Given the description of an element on the screen output the (x, y) to click on. 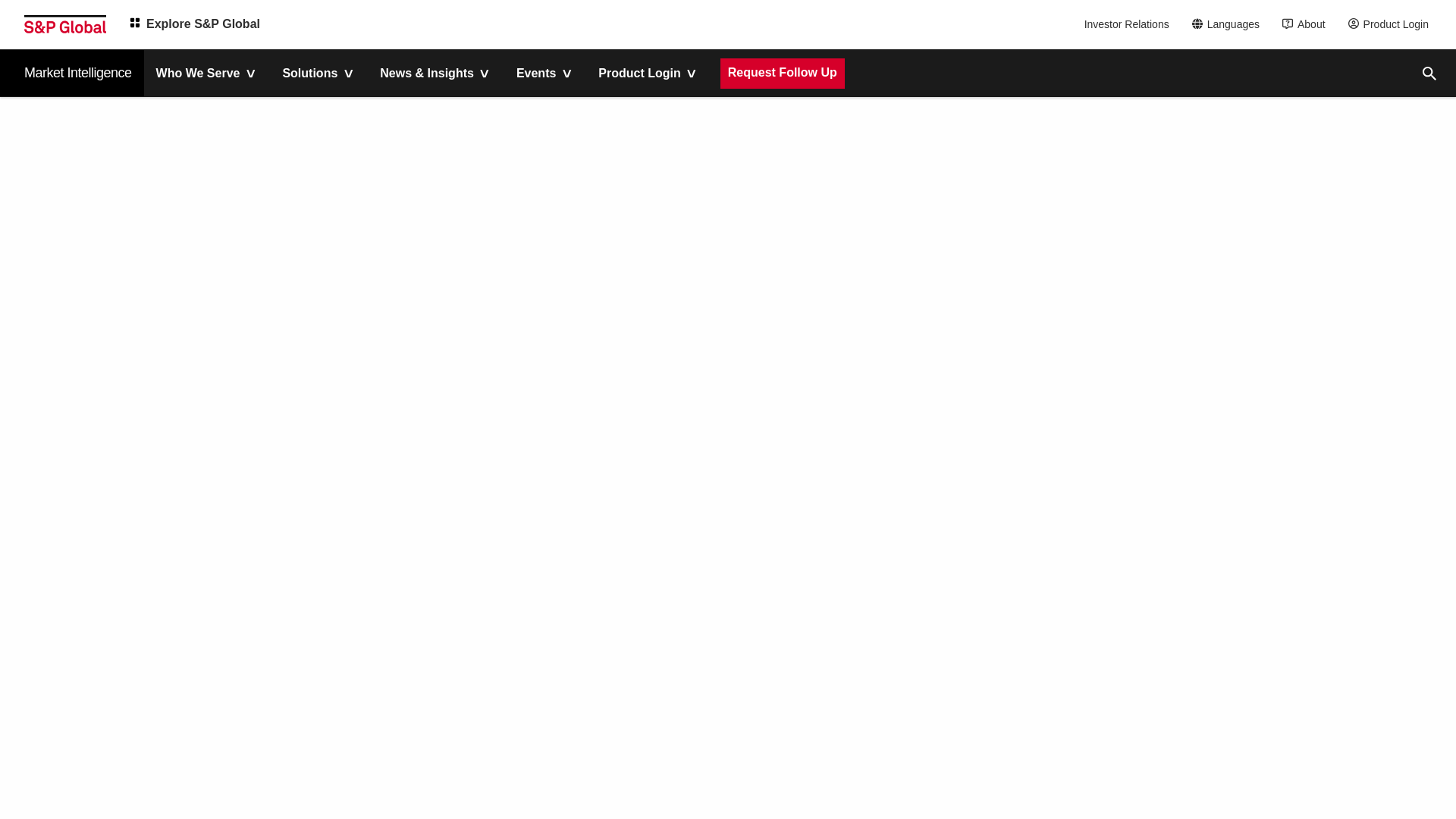
Product Login (1392, 24)
Investor Relations (1129, 24)
Languages (1230, 24)
About (1307, 24)
